Given the description of an element on the screen output the (x, y) to click on. 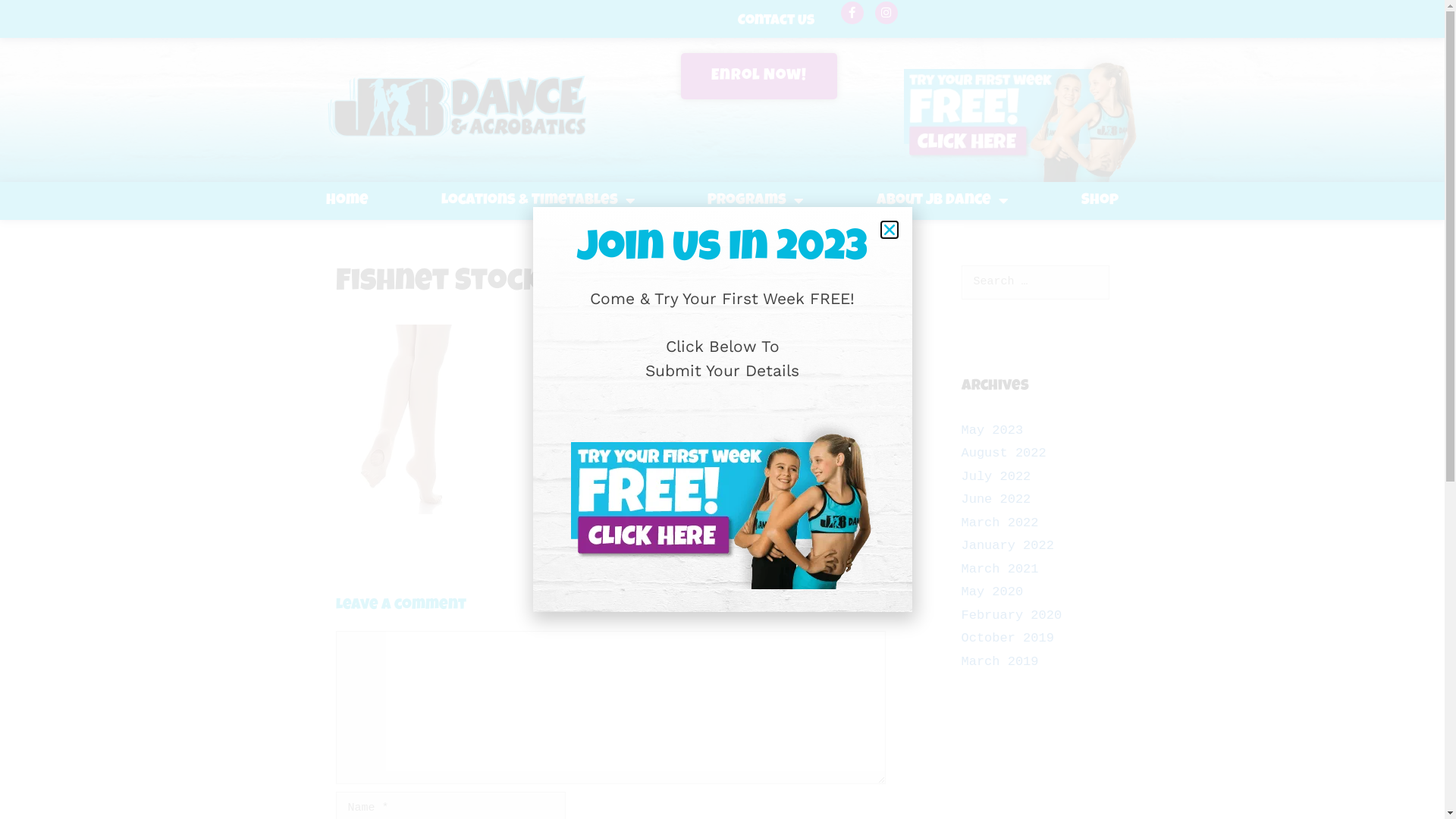
June 2022 Element type: text (996, 499)
May 2023 Element type: text (992, 430)
March 2019 Element type: text (999, 661)
July 2022 Element type: text (996, 476)
May 2020 Element type: text (992, 591)
Enrol Now! Element type: text (758, 76)
Contact Us Element type: text (774, 21)
Search for: Element type: hover (1035, 282)
February 2020 Element type: text (1011, 615)
Shop Element type: text (1099, 200)
March 2022 Element type: text (999, 522)
August 2022 Element type: text (1003, 452)
Search Element type: text (36, 17)
January 2022 Element type: text (1007, 545)
Locations & Timetables Element type: text (537, 200)
Home Element type: text (346, 200)
March 2021 Element type: text (999, 568)
October 2019 Element type: text (1007, 637)
About JB Dance Element type: text (942, 200)
Programs Element type: text (755, 200)
